Given the description of an element on the screen output the (x, y) to click on. 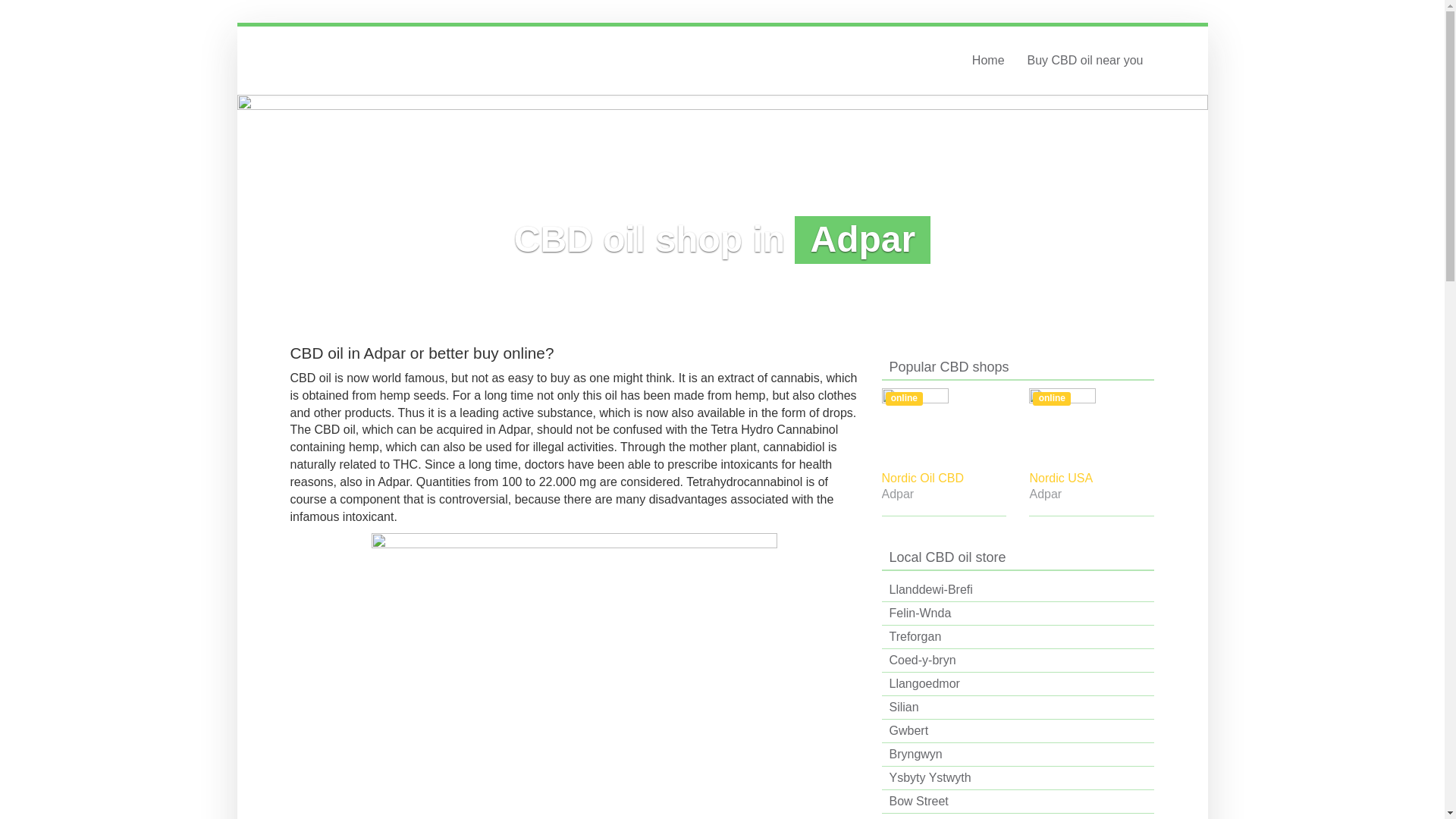
Buy CBD oil near you (1085, 60)
Gwbert (1017, 730)
Llanfihangel-y-Creuddyn (1017, 816)
Llanddewi-Brefi (1017, 589)
online (943, 426)
Nordic Oil CBD (943, 479)
Coed-y-bryn (1017, 660)
Nordic Oil CBD jetzt kennenlernen! (943, 426)
Bow Street (1017, 802)
Adpar (943, 494)
Felin-Wnda (1017, 613)
Nordic USA (1091, 479)
Adpar (1091, 494)
Nordic USA jetzt kennenlernen! (1091, 426)
Llangoedmor (1017, 684)
